Given the description of an element on the screen output the (x, y) to click on. 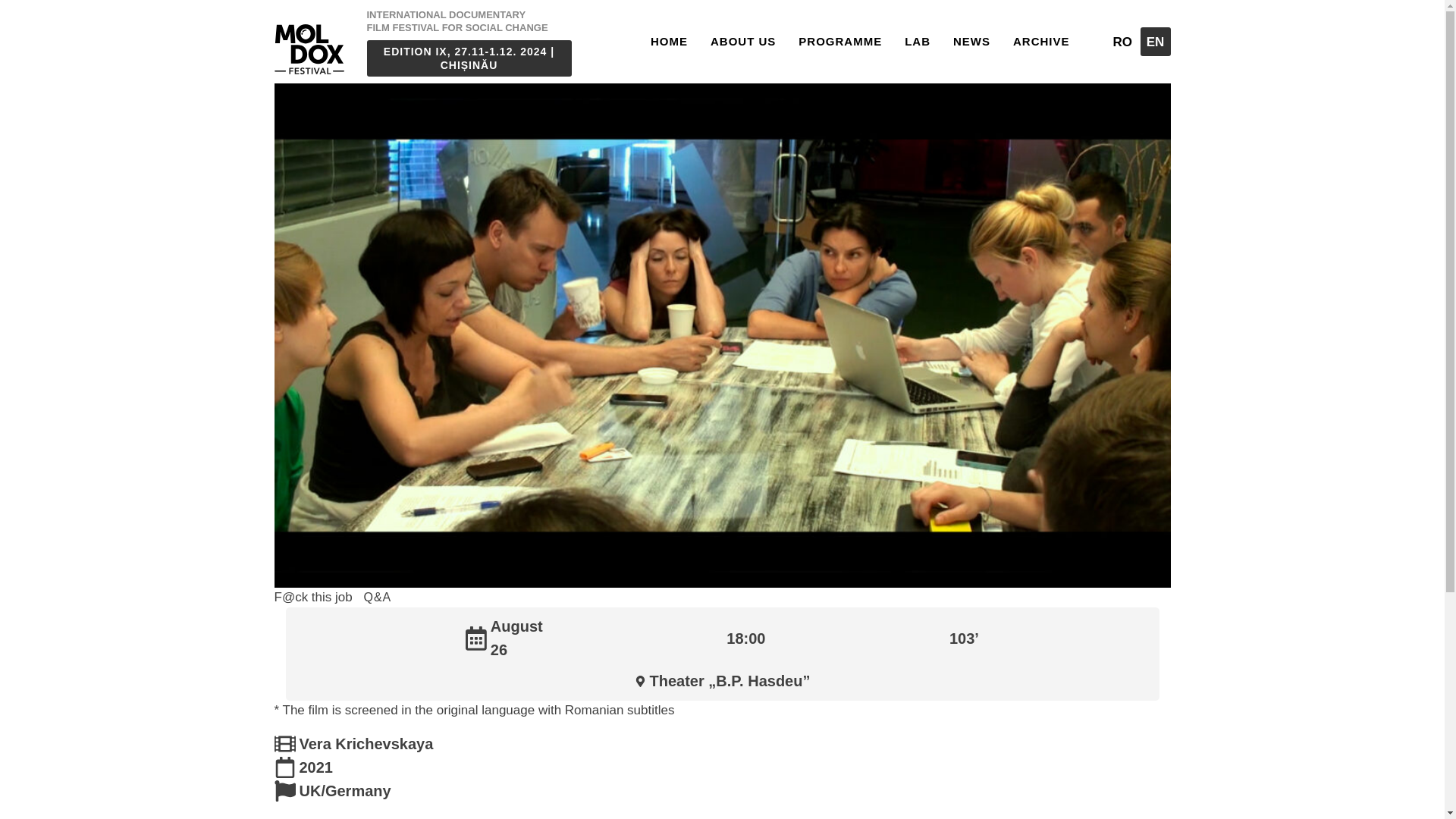
ABOUT US (742, 41)
PROGRAMME (840, 41)
EN (1155, 41)
RO (1121, 41)
ARCHIVE (1041, 41)
